Given the description of an element on the screen output the (x, y) to click on. 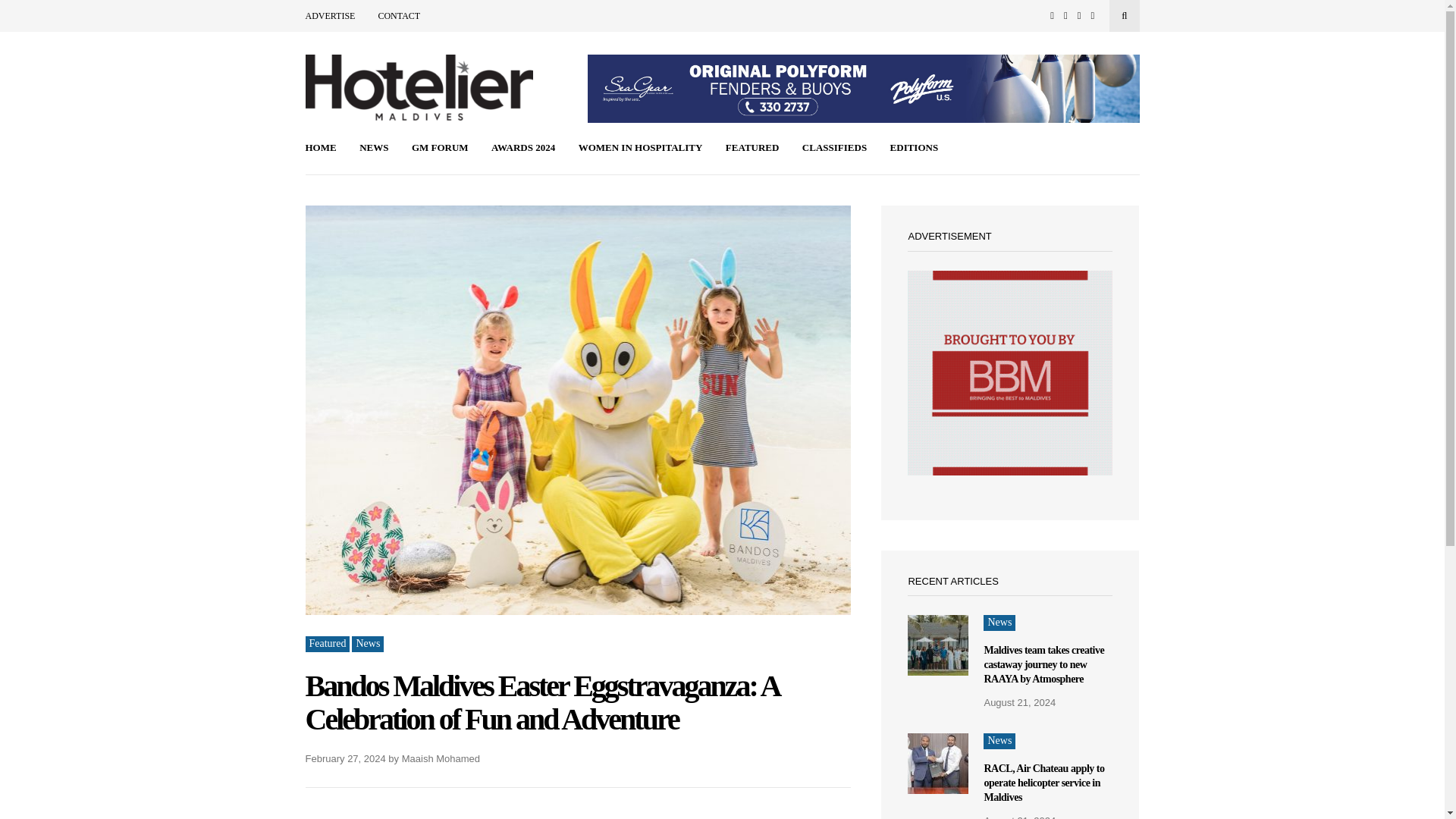
News (368, 643)
WOMEN IN HOSPITALITY (640, 148)
GM FORUM (440, 148)
AWARDS 2024 (523, 148)
CONTACT (398, 15)
ADVERTISE (329, 15)
Featured (326, 643)
CLASSIFIEDS (834, 148)
Maaish Mohamed (440, 758)
FEATURED (751, 148)
